Given the description of an element on the screen output the (x, y) to click on. 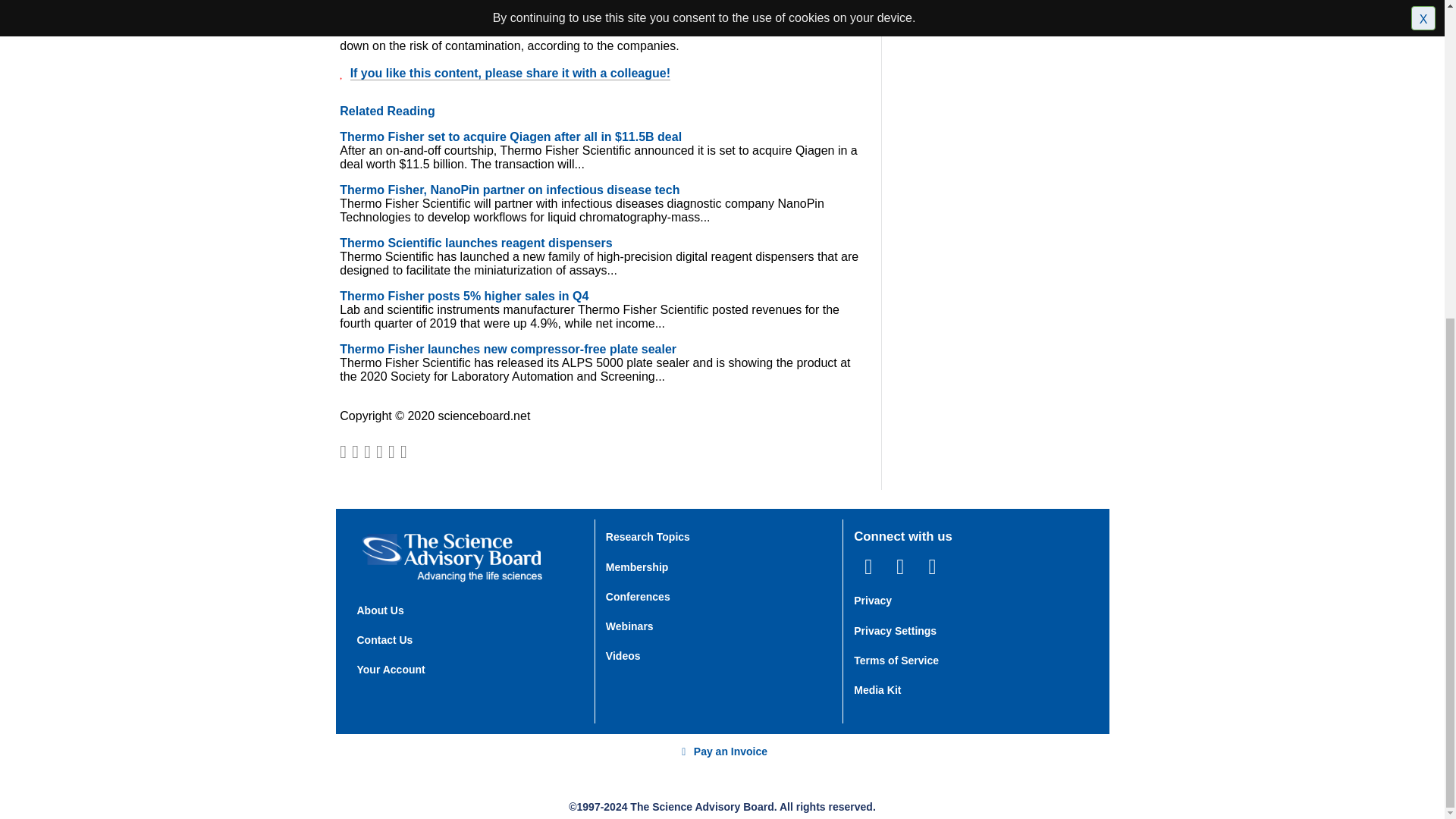
Thermo Fisher, NanoPin partner on infectious disease tech (509, 189)
If you like this content, please share it with a colleague! (509, 73)
Thermo Scientific launches reagent dispensers (475, 242)
